Given the description of an element on the screen output the (x, y) to click on. 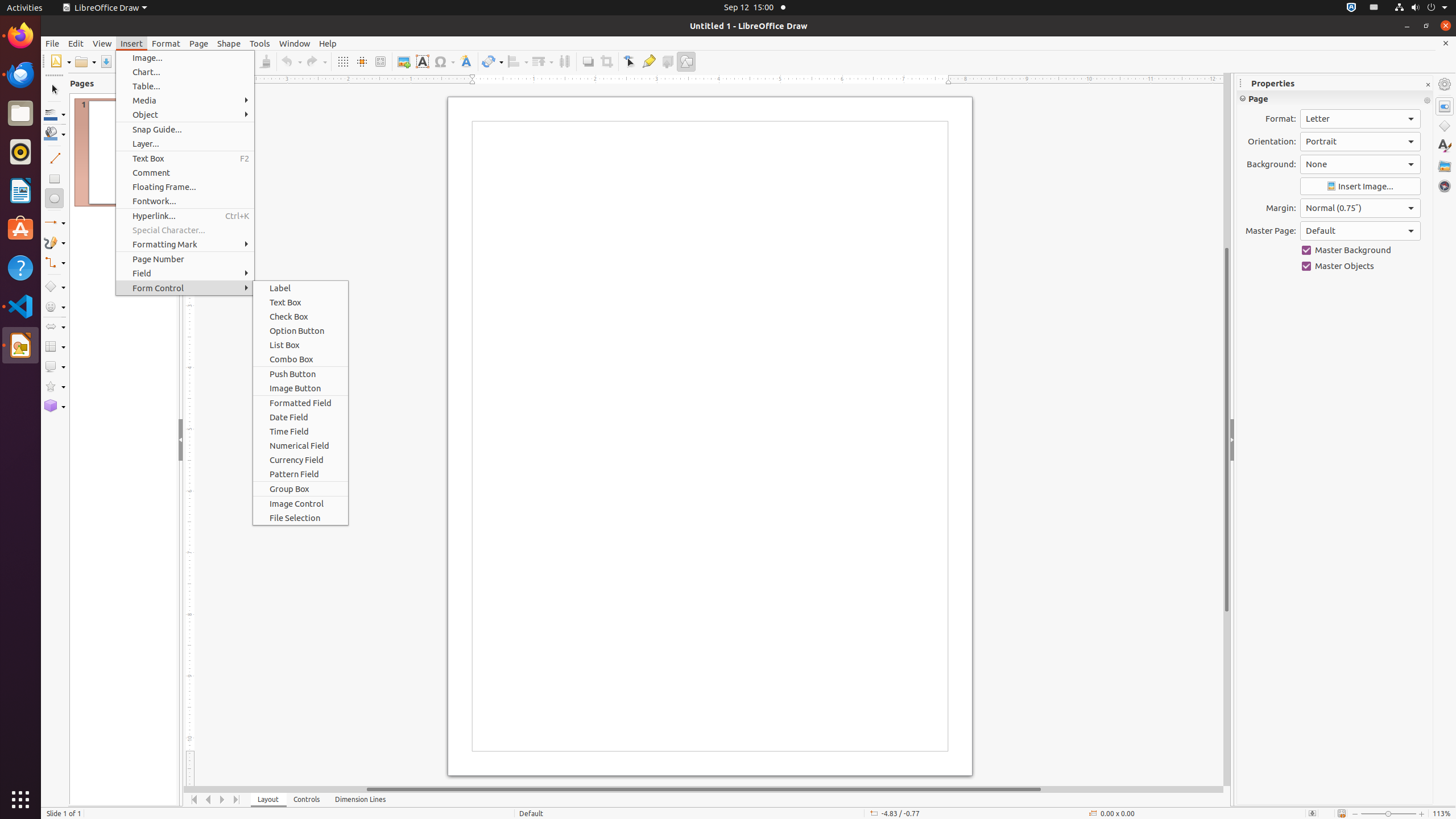
Grid Element type: toggle-button (342, 61)
Combo Box Element type: check-menu-item (300, 359)
Image Control Element type: check-menu-item (300, 503)
Shapes Element type: radio-button (1444, 126)
List Box Element type: check-menu-item (300, 344)
